Given the description of an element on the screen output the (x, y) to click on. 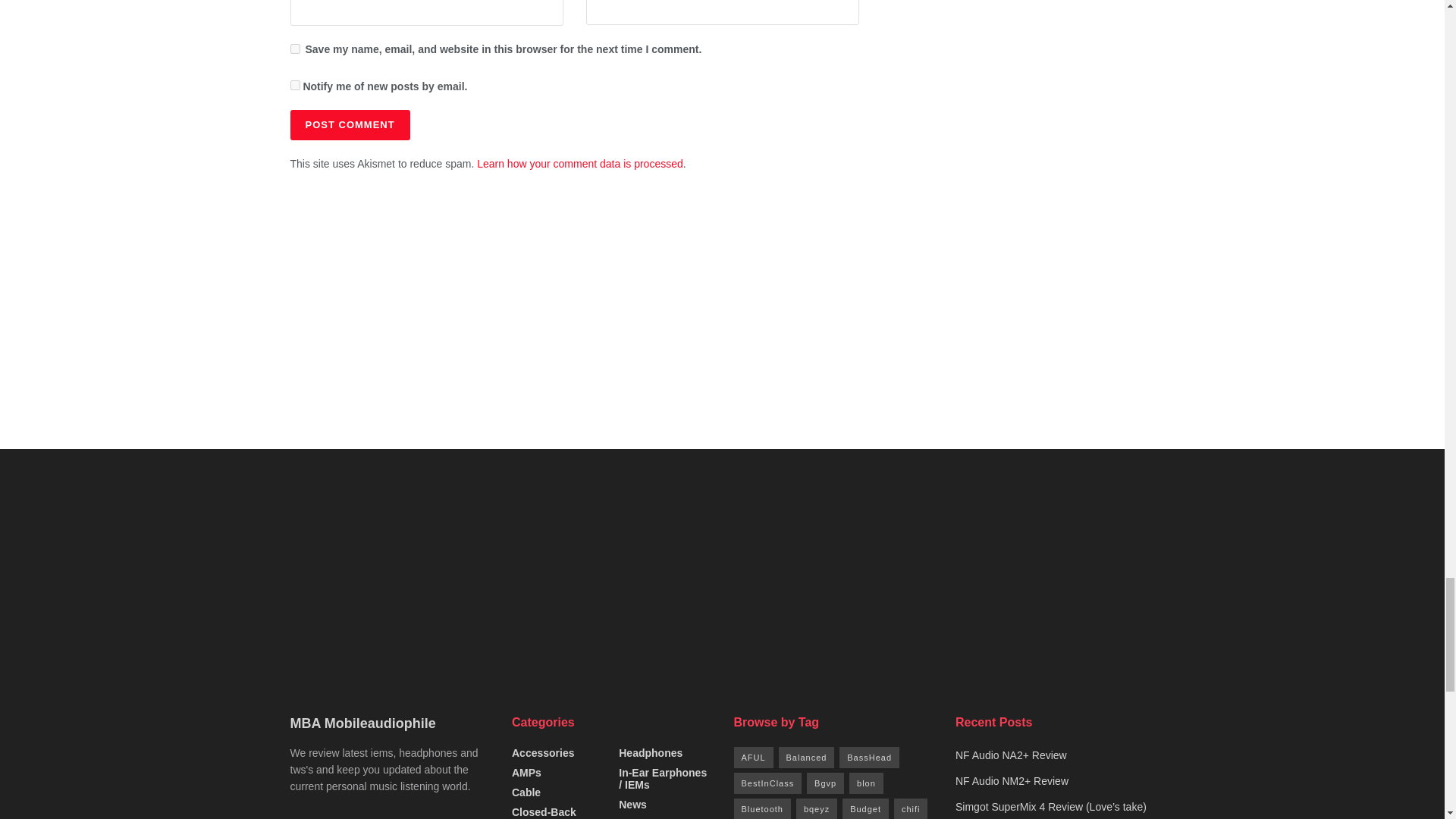
subscribe (294, 85)
Post Comment (349, 124)
yes (294, 49)
